Given the description of an element on the screen output the (x, y) to click on. 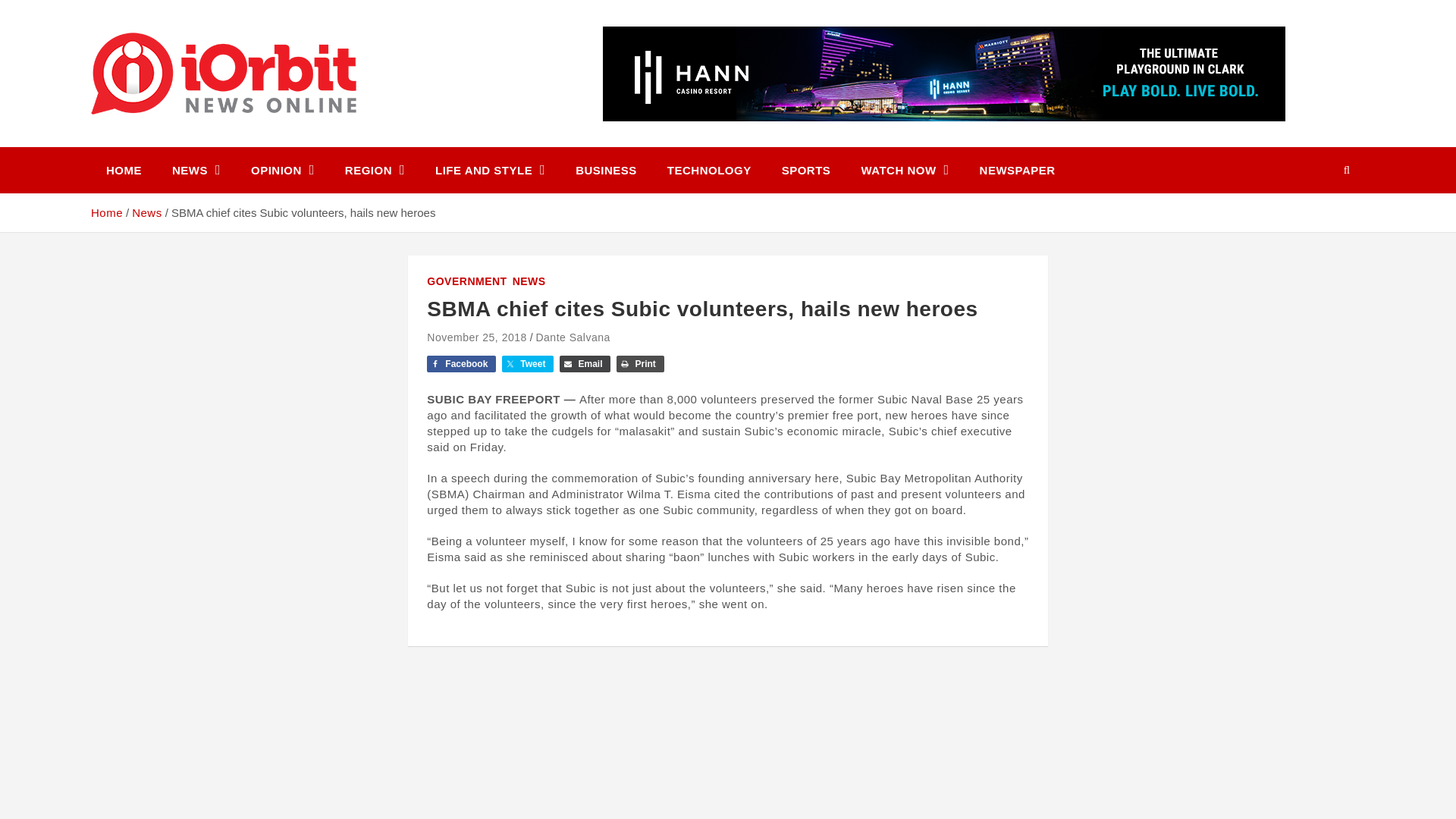
Print this Page (639, 363)
SPORTS (806, 170)
BUSINESS (606, 170)
Home (106, 212)
iOrbit News Online (229, 143)
LIFE AND STYLE (490, 170)
TECHNOLOGY (709, 170)
HOME (123, 170)
Email (584, 363)
Share on Facebook (461, 363)
WATCH NOW (904, 170)
Share on Twitter (527, 363)
News (146, 212)
REGION (375, 170)
NEWSPAPER (1016, 170)
